Given the description of an element on the screen output the (x, y) to click on. 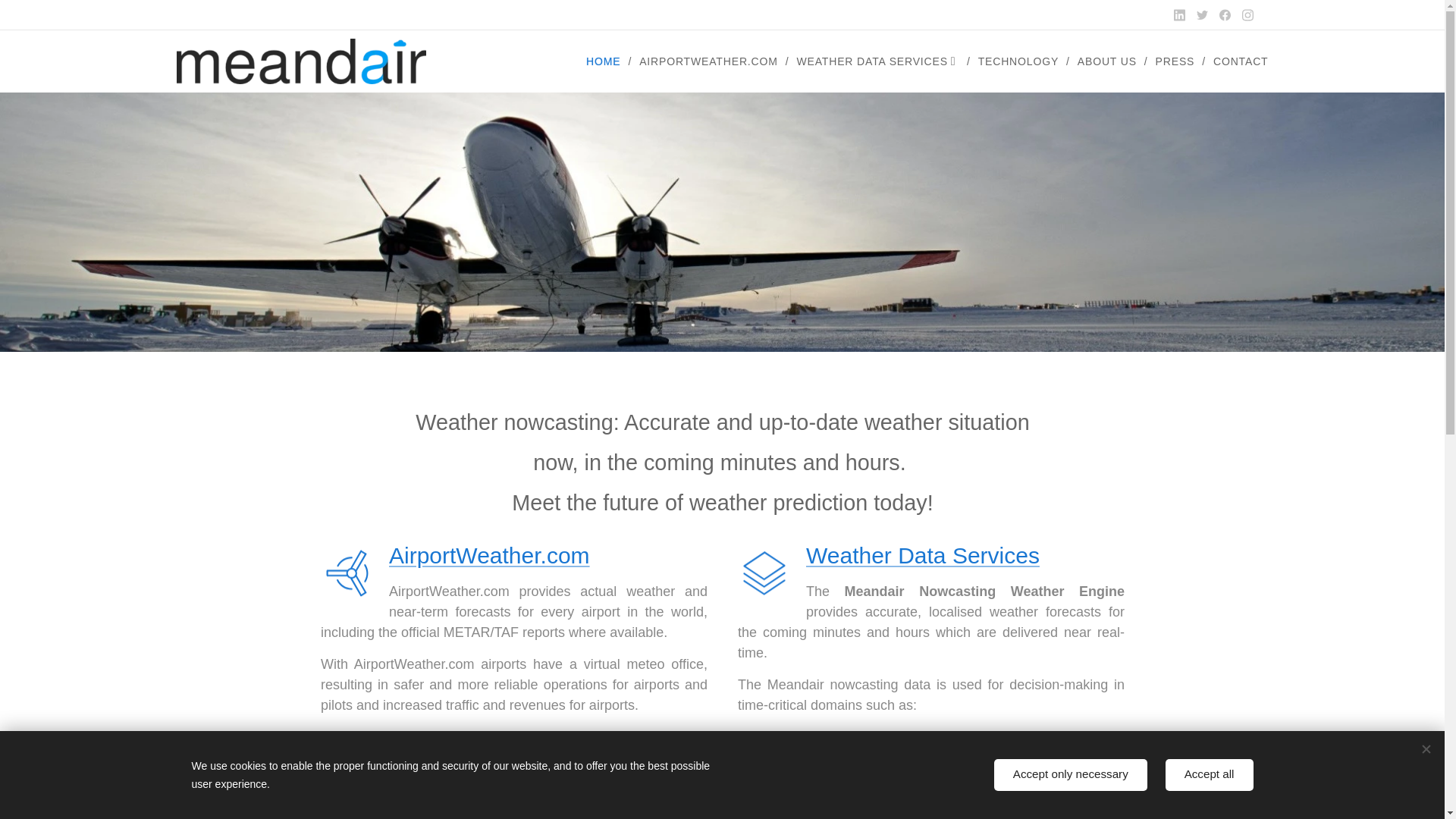
CONTACT (1236, 61)
HOME (606, 61)
WEATHER DATA SERVICES (879, 61)
Aviation (790, 741)
PRESS (1176, 61)
Weather Data Services (922, 555)
TECHNOLOGY (1020, 61)
ABOUT US (1109, 61)
AirportWeather.com (488, 555)
Renewable Energy (841, 784)
Accept all (1209, 774)
AIRPORTWEATHER.COM (710, 61)
Accept only necessary (1070, 774)
